Given the description of an element on the screen output the (x, y) to click on. 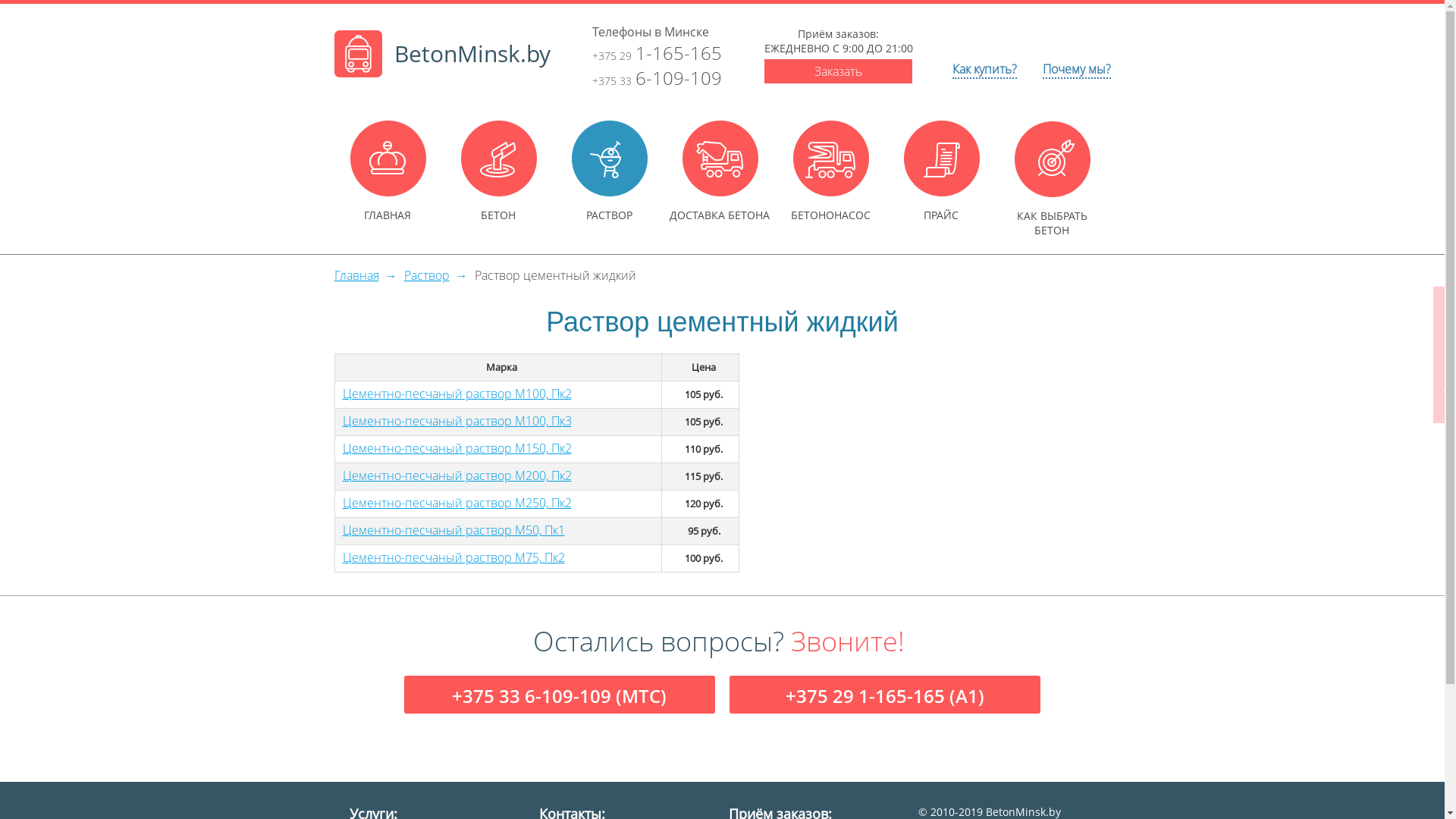
+375 336-109-109 Element type: text (656, 77)
BetonMinsk.by Element type: text (436, 72)
+375 29 1-165-165 (A1) Element type: text (884, 695)
+375 291-165-165 Element type: text (656, 52)
logo-Betonminsk.by Element type: hover (357, 53)
